Given the description of an element on the screen output the (x, y) to click on. 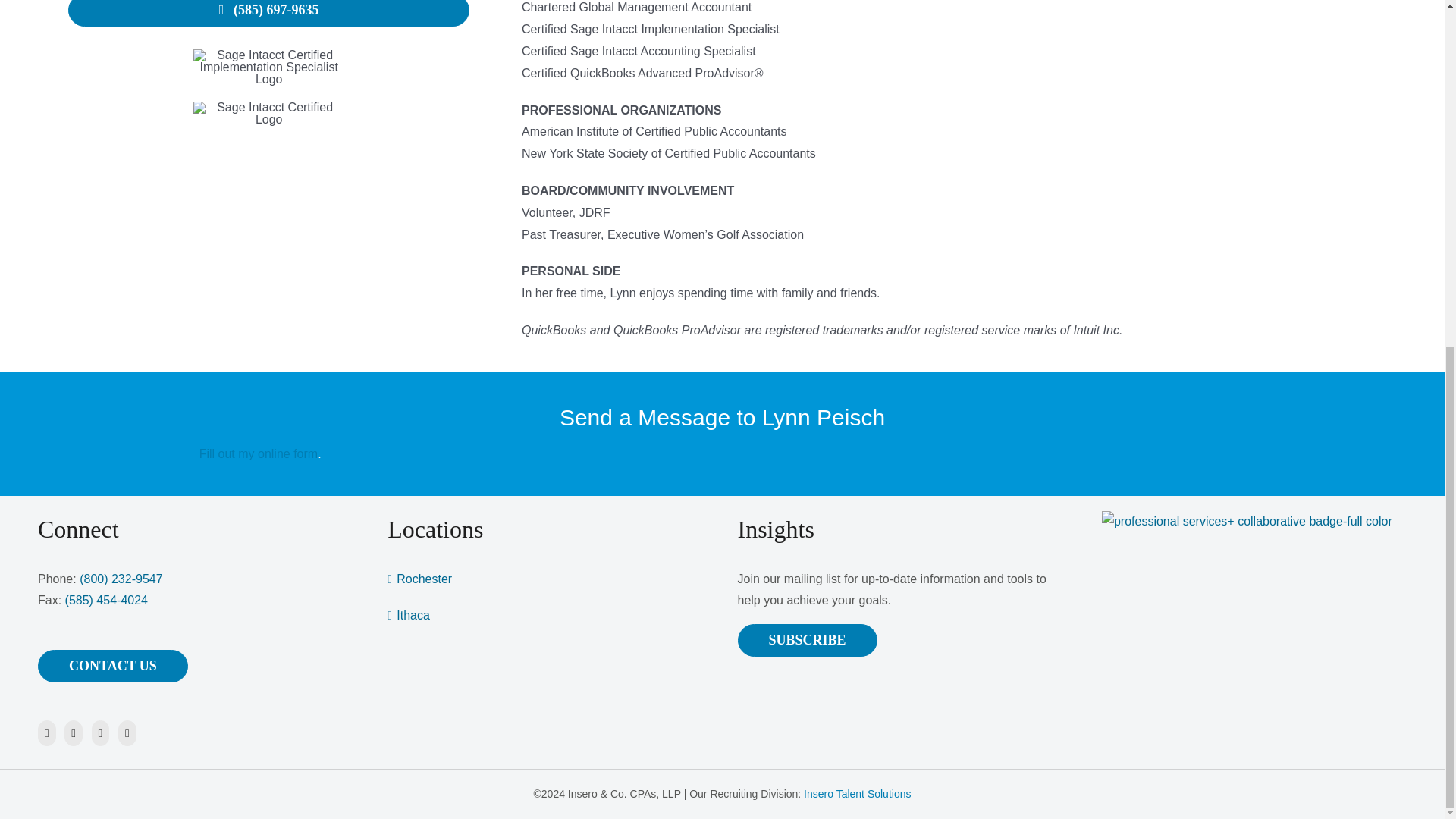
LinkedIn (126, 733)
Facebook (46, 733)
YouTube (100, 733)
Instagram (73, 733)
sage-certified-logo (269, 67)
sage-intacct-logo (269, 113)
